Given the description of an element on the screen output the (x, y) to click on. 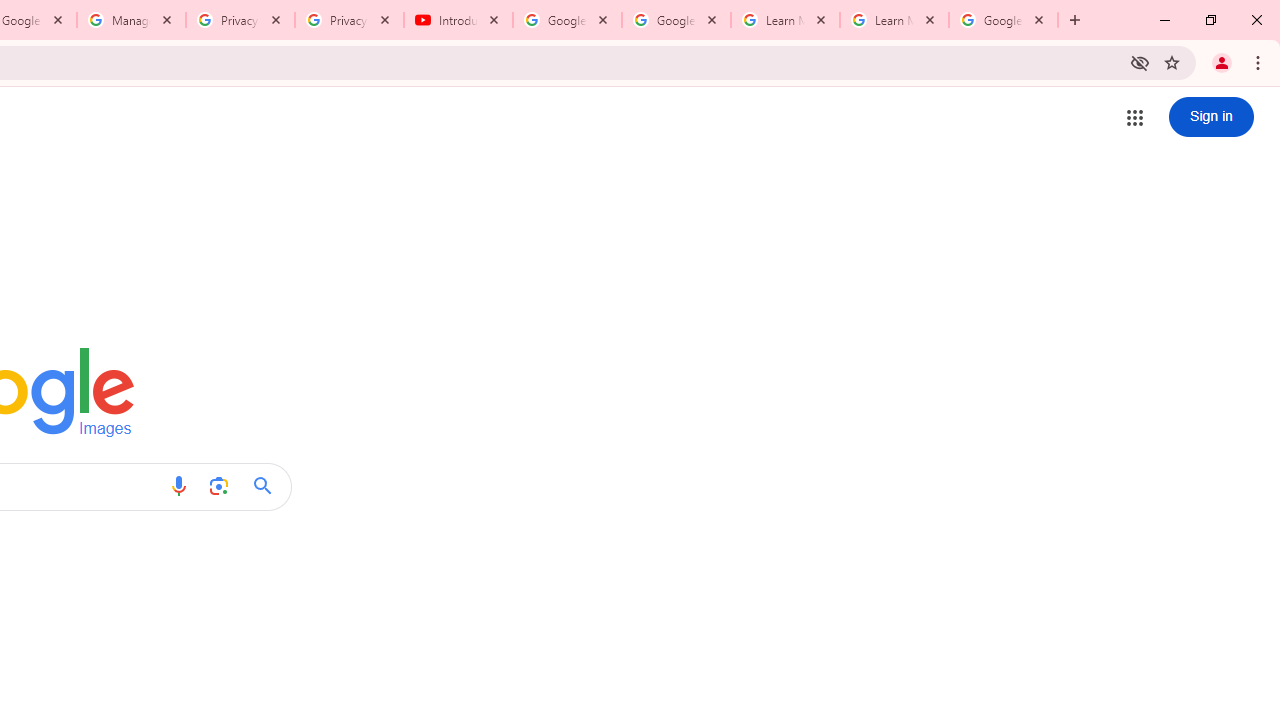
New Tab (1075, 20)
Google Account Help (567, 20)
Minimize (1165, 20)
Google apps (1134, 117)
You (1221, 62)
Introduction | Google Privacy Policy - YouTube (458, 20)
Close (1039, 19)
